Given the description of an element on the screen output the (x, y) to click on. 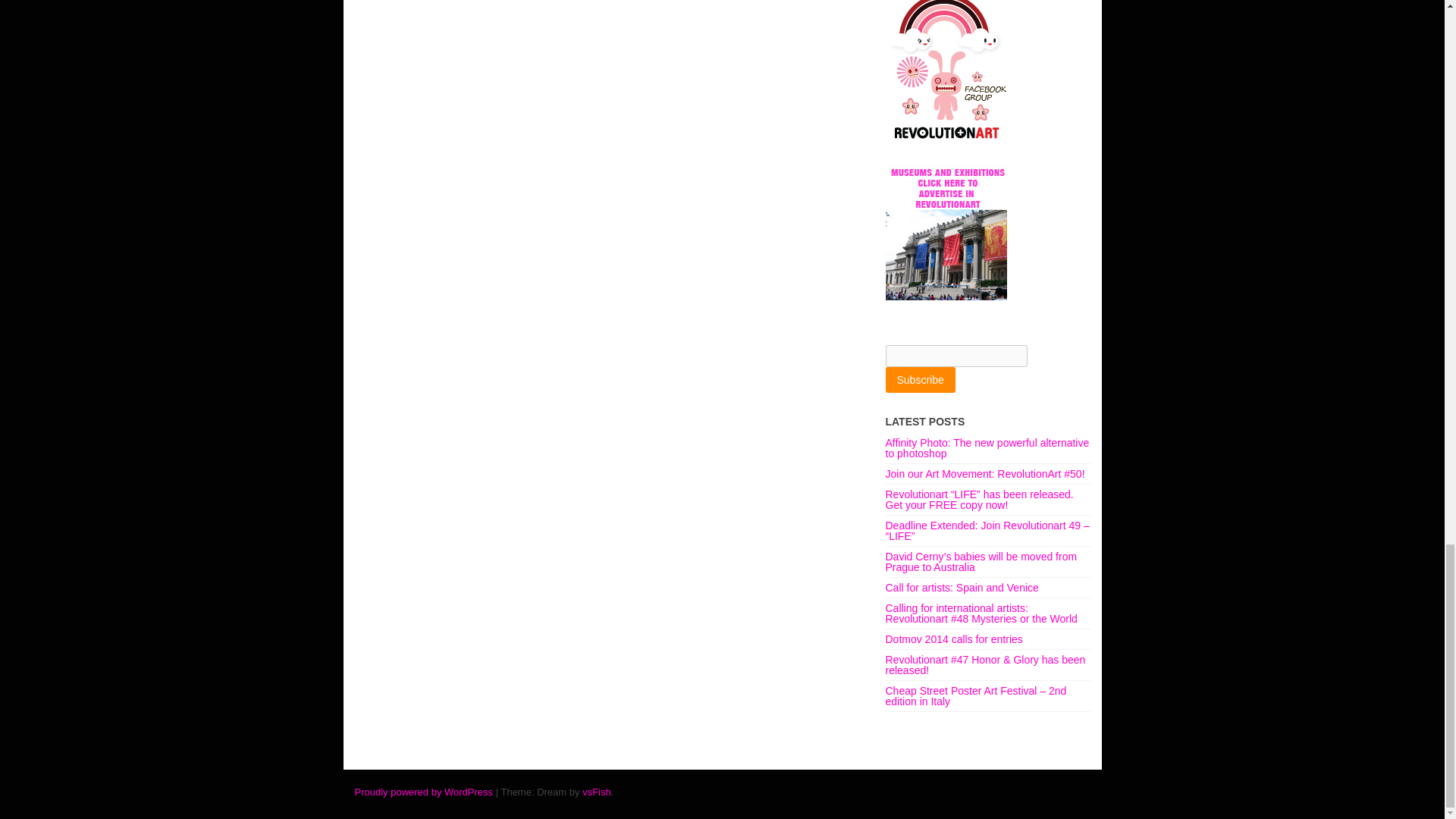
Subscribe (920, 379)
